Given the description of an element on the screen output the (x, y) to click on. 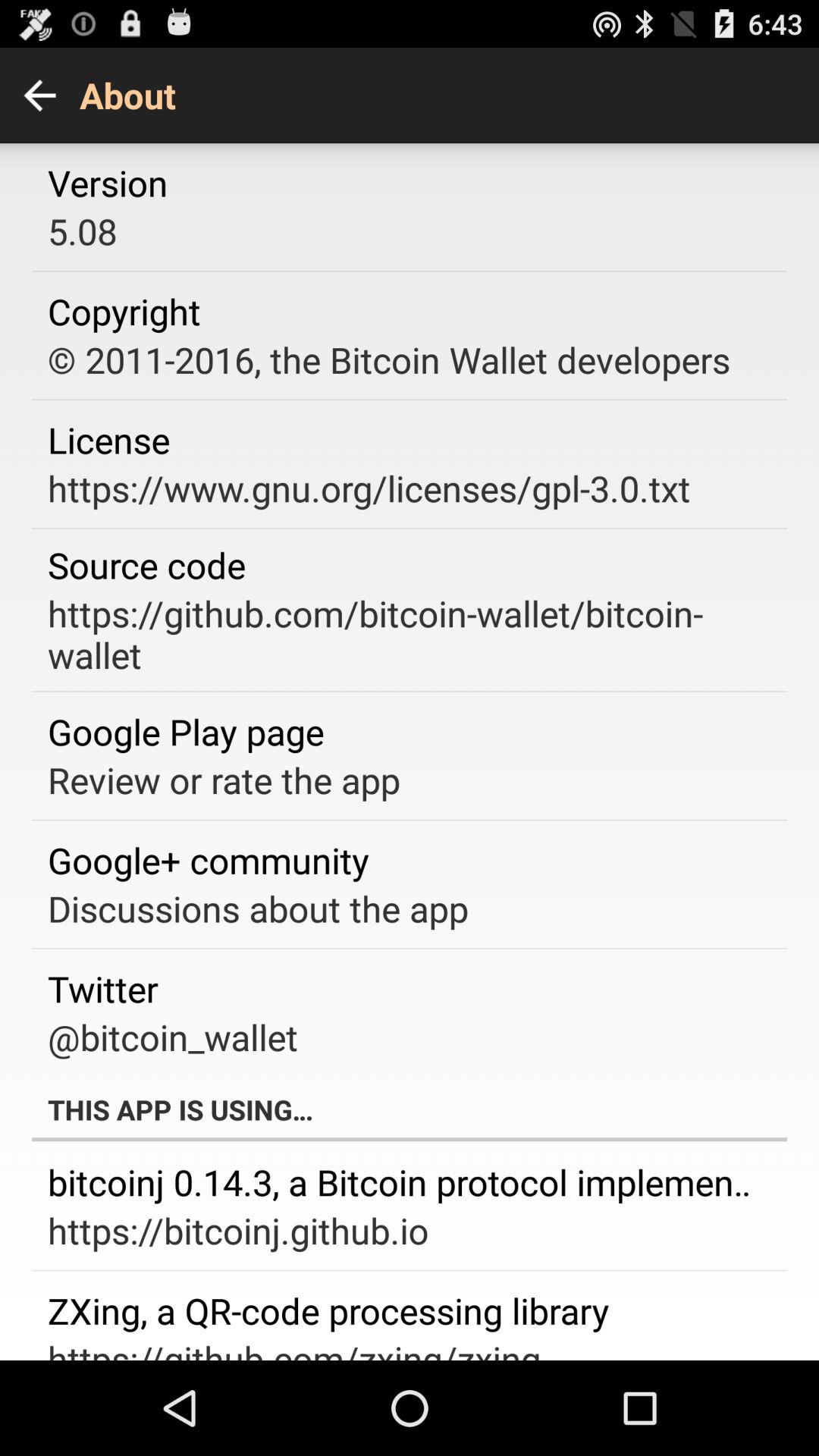
launch the icon below the copyright (388, 359)
